Given the description of an element on the screen output the (x, y) to click on. 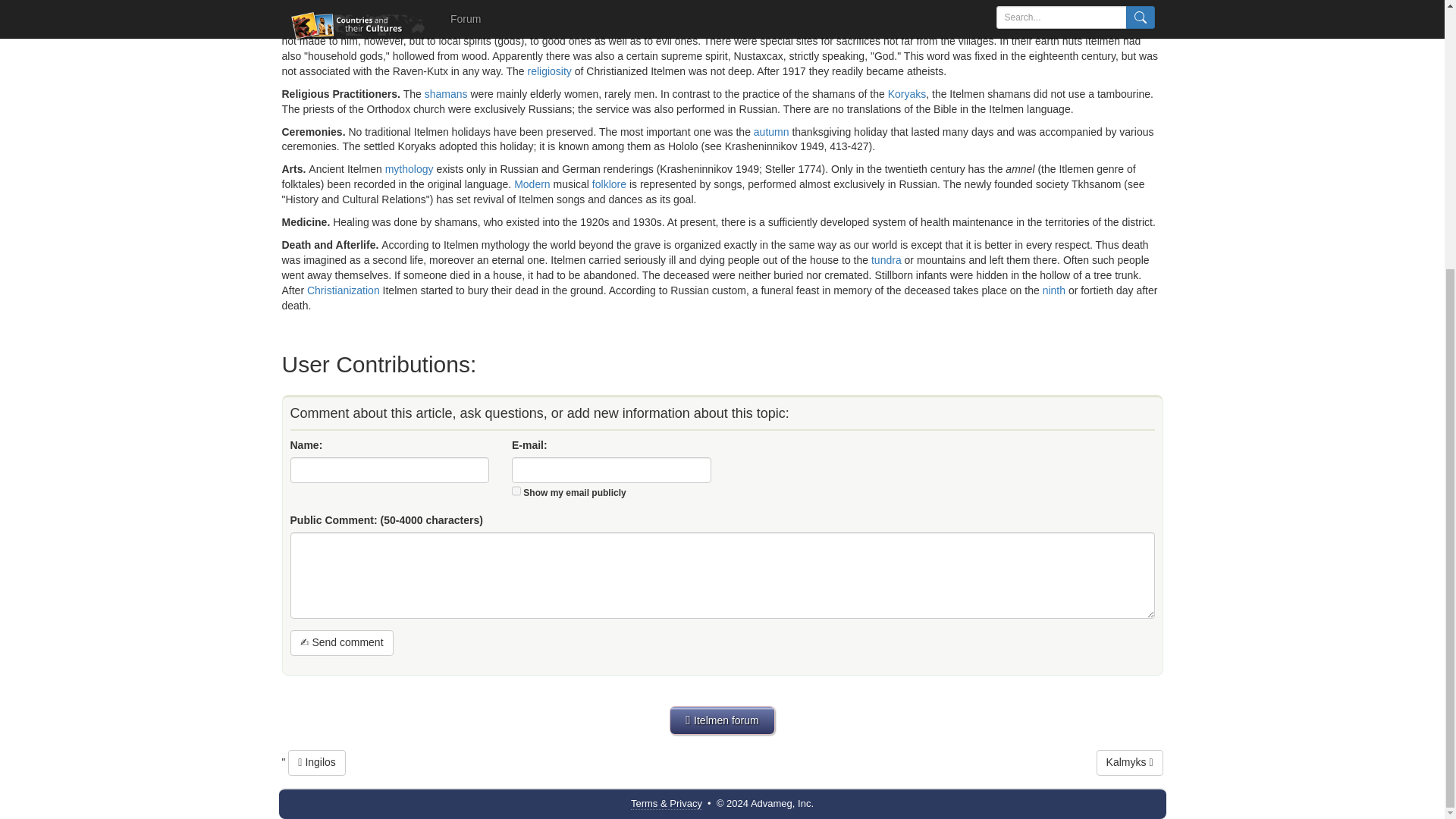
autumn (771, 131)
View 'autumn' definition from Wikipedia (771, 131)
View 'mythology' definition from Wikipedia (409, 168)
Ingilos (316, 762)
View 'folklore' definition from Wikipedia (609, 184)
View 'koryaks' definition from Wikipedia (907, 93)
Kalmyks (1129, 762)
View 'ninth' definition from Wikipedia (1053, 290)
mythology (409, 168)
ninth (1053, 290)
Koryaks (907, 93)
tundra (885, 259)
1 (516, 491)
Christianization (343, 290)
View 'modern' definition from Wikipedia (531, 184)
